Given the description of an element on the screen output the (x, y) to click on. 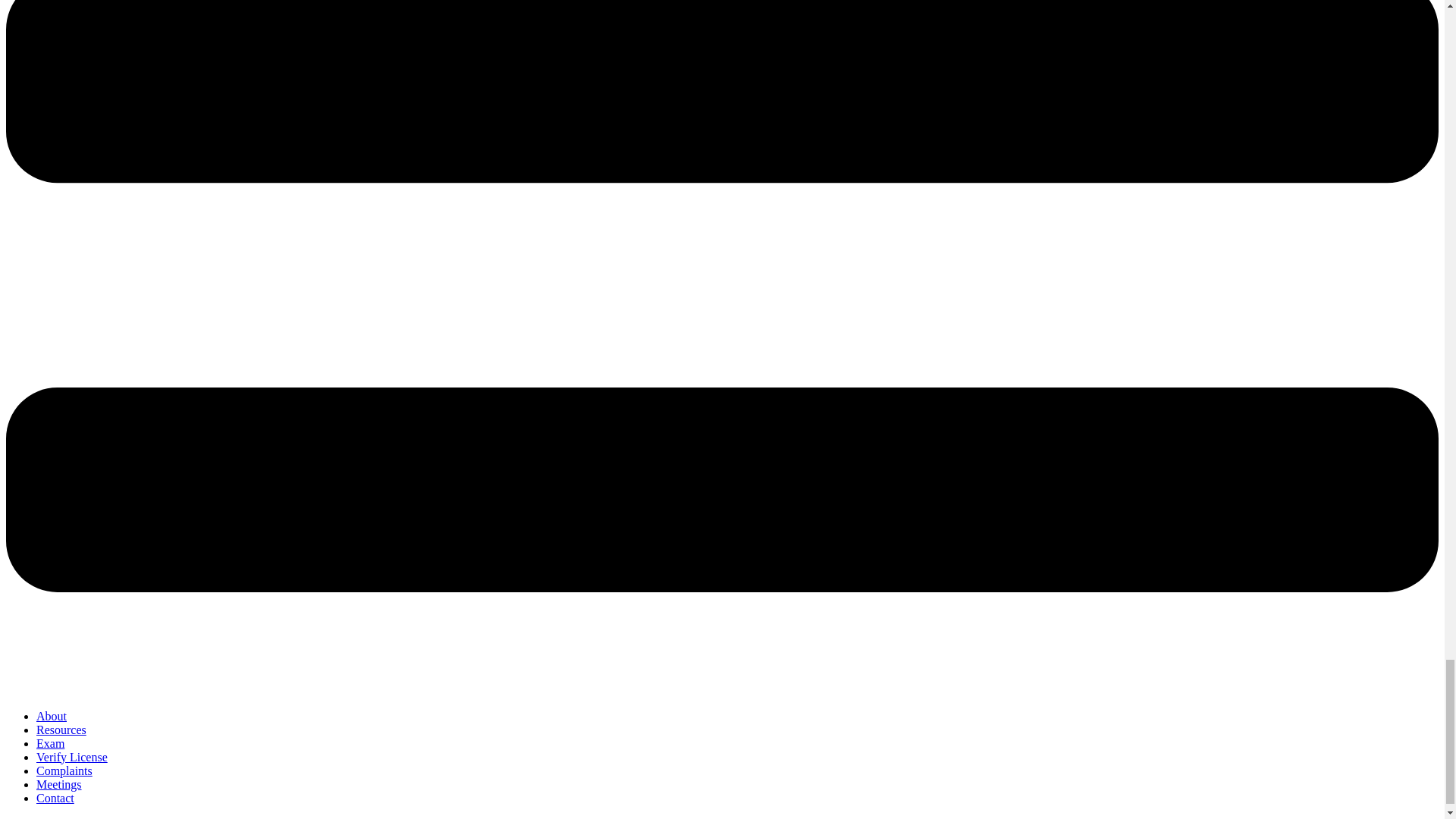
Resources (60, 728)
Meetings (58, 783)
Complaints (64, 769)
Exam (50, 742)
Verify License (71, 756)
Contact (55, 797)
About (51, 715)
